Given the description of an element on the screen output the (x, y) to click on. 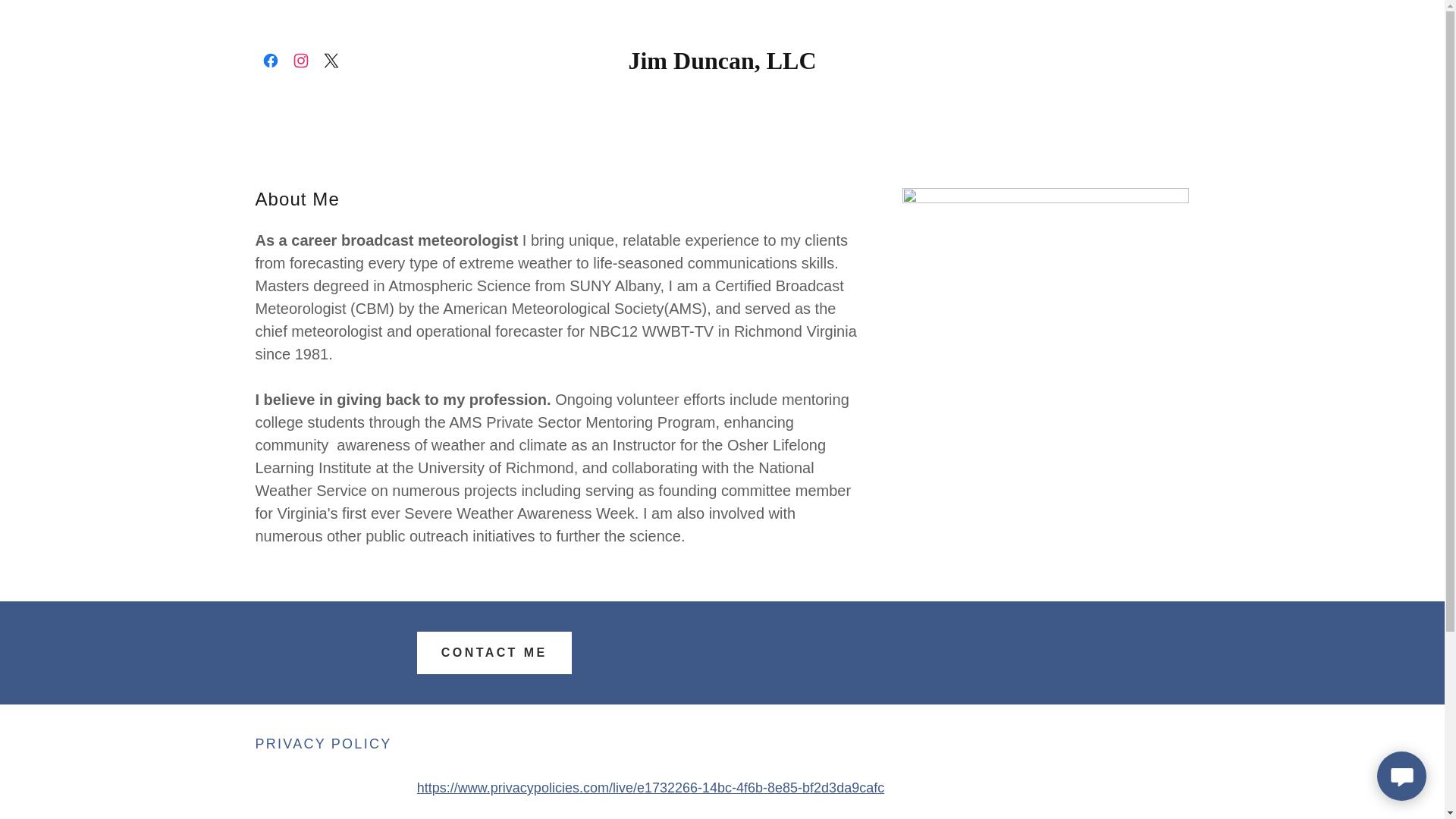
Jim Duncan, LLC (721, 64)
CONTACT ME (494, 652)
Jim Duncan, LLC (721, 64)
